Given the description of an element on the screen output the (x, y) to click on. 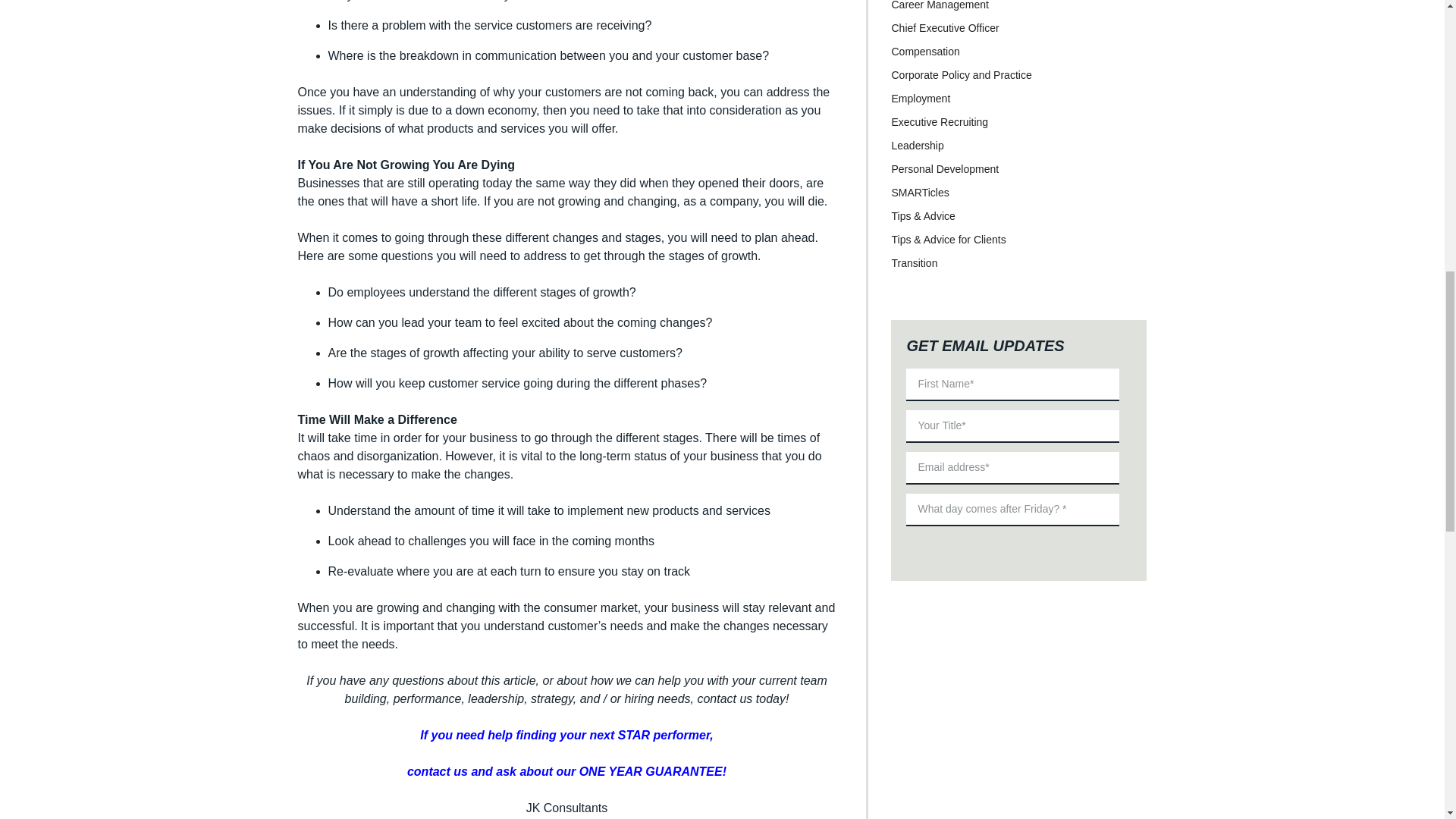
Employment (920, 98)
Leadership (917, 145)
Executive Recruiting (939, 121)
Personal Development (944, 168)
SMARTicles (920, 192)
Career Management (939, 5)
Corporate Policy and Practice (960, 73)
Compensation (925, 51)
Chief Executive Officer (944, 27)
